Given the description of an element on the screen output the (x, y) to click on. 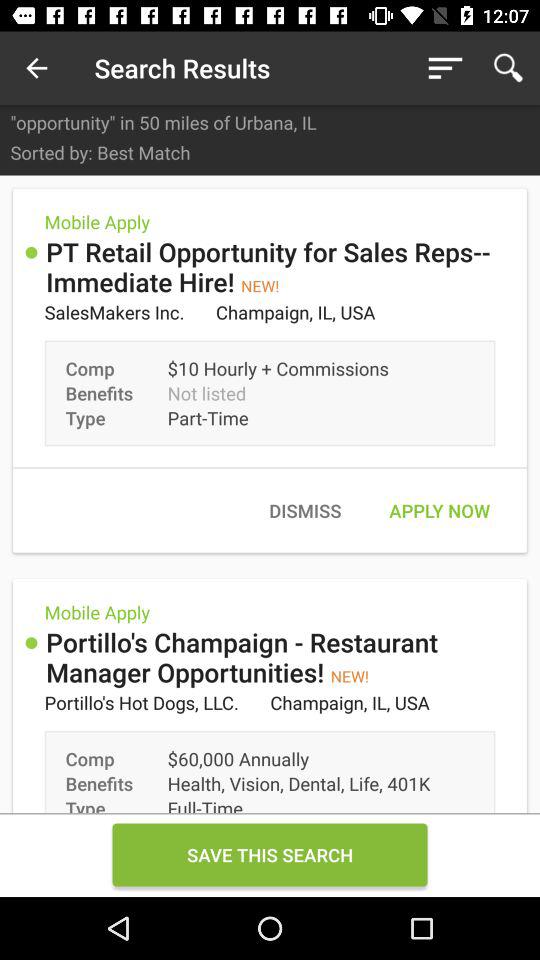
choose item next to search results item (444, 67)
